Given the description of an element on the screen output the (x, y) to click on. 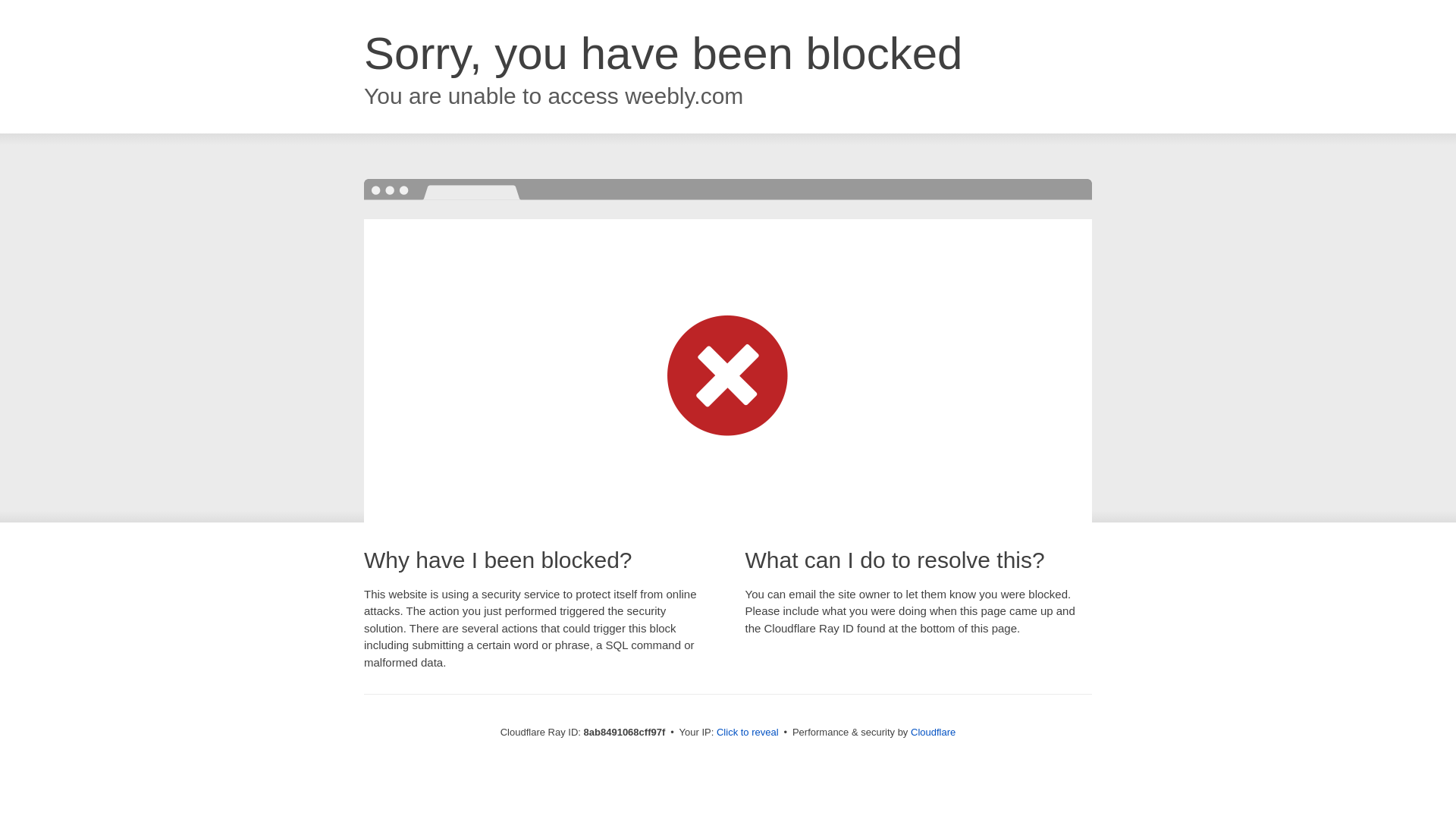
Cloudflare (933, 731)
Click to reveal (747, 732)
